Given the description of an element on the screen output the (x, y) to click on. 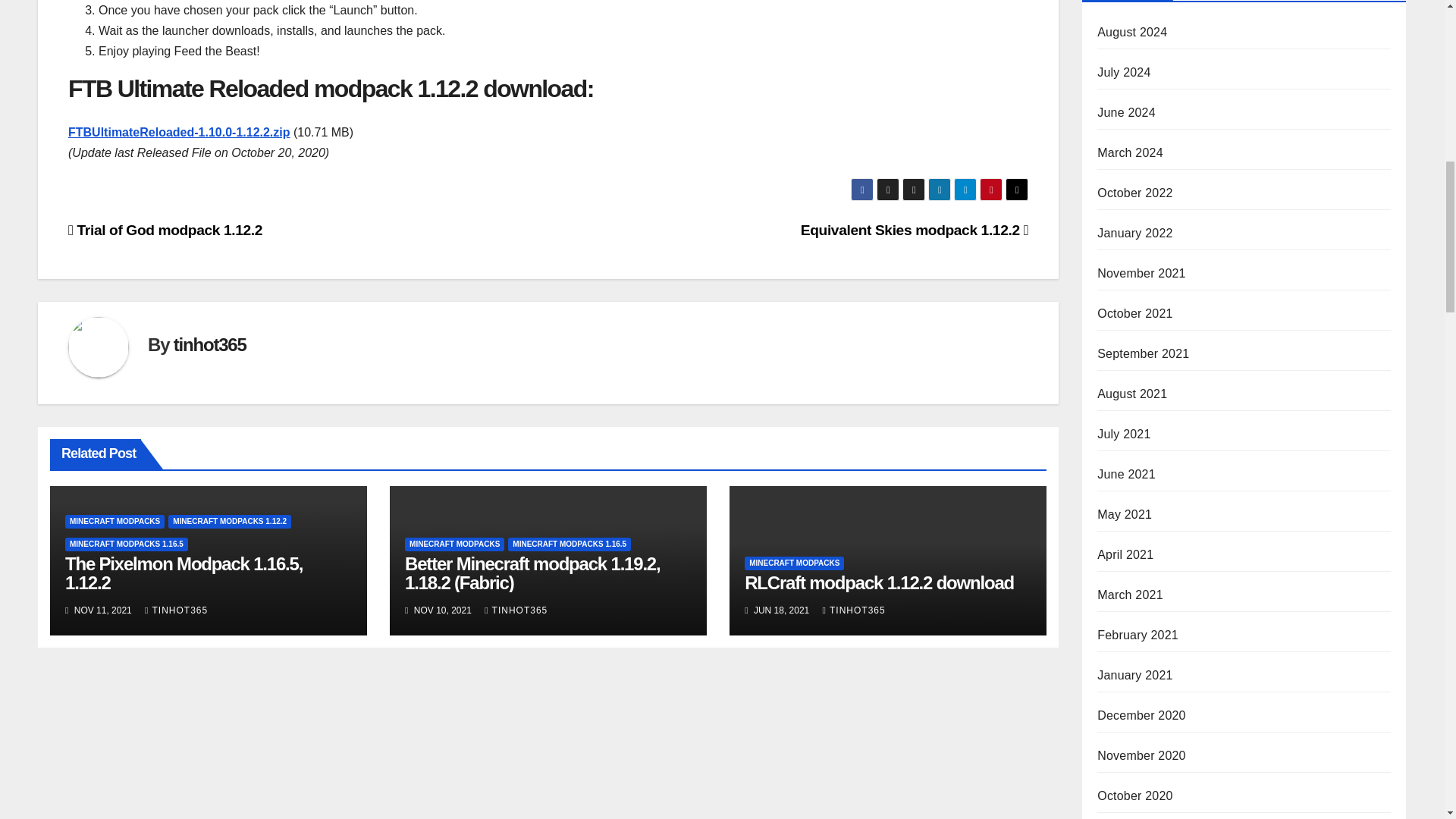
The Pixelmon Modpack 1.16.5, 1.12.2 (183, 572)
MINECRAFT MODPACKS (114, 521)
MINECRAFT MODPACKS 1.16.5 (569, 544)
Permalink to: The Pixelmon Modpack 1.16.5, 1.12.2 (183, 572)
FTBUltimateReloaded-1.10.0-1.12.2.zip (178, 132)
TINHOT365 (176, 610)
MINECRAFT MODPACKS 1.16.5 (126, 544)
Equivalent Skies modpack 1.12.2 (913, 229)
Permalink to: RLCraft modpack 1.12.2 download (878, 582)
MINECRAFT MODPACKS (453, 544)
